Given the description of an element on the screen output the (x, y) to click on. 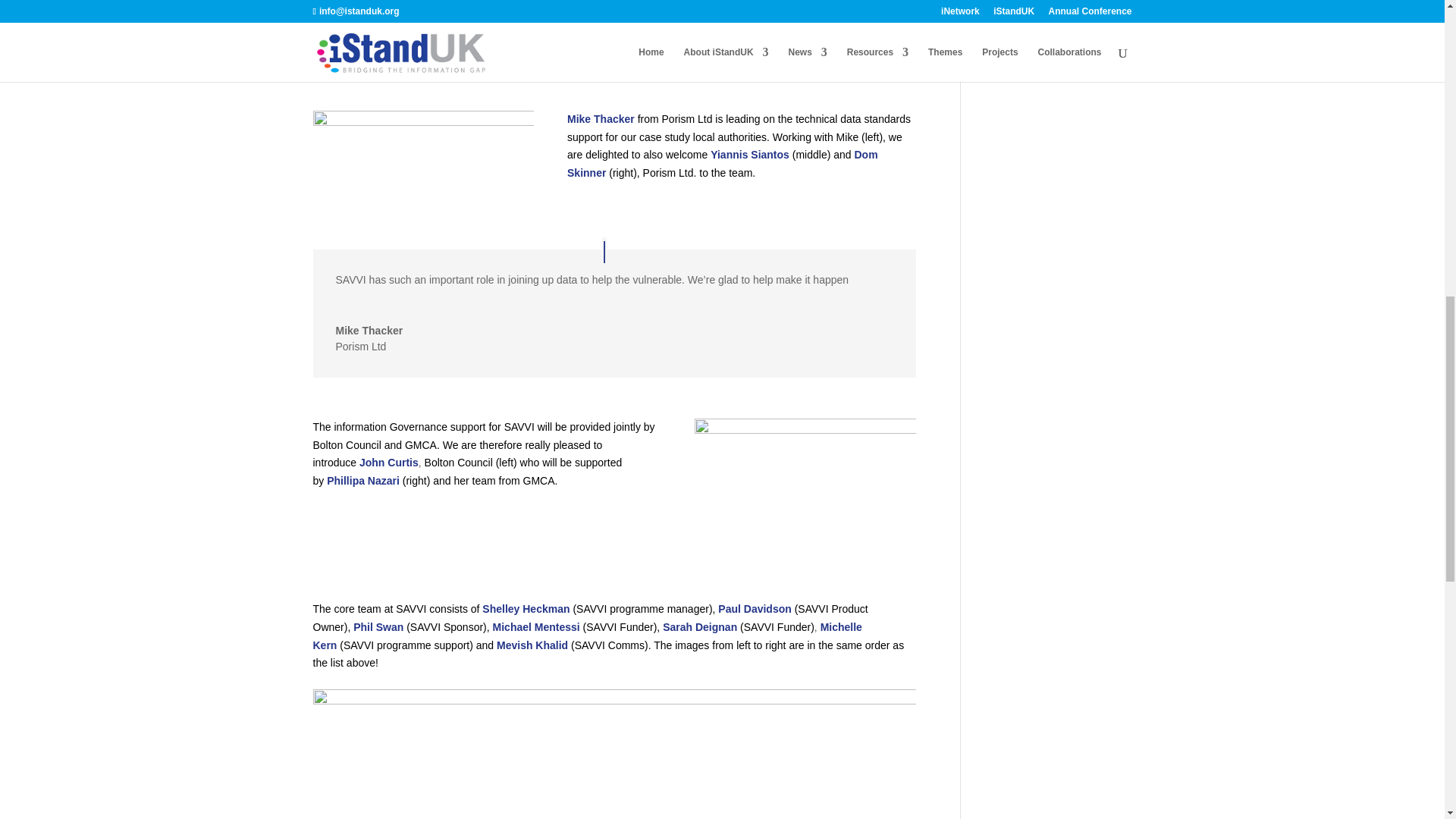
Sarah Deignan (699, 626)
Phillipa Nazari (362, 480)
Michael Mentessi (536, 626)
Mike Thacker (600, 119)
Yiannis Siantos (749, 154)
Shelley Heckman (525, 608)
Phil Swan (378, 626)
Porism (423, 159)
IG support (804, 488)
Dom Skinner (722, 163)
Paul Davidson (753, 608)
John Curtis (389, 462)
SAVVI team (614, 729)
